Given the description of an element on the screen output the (x, y) to click on. 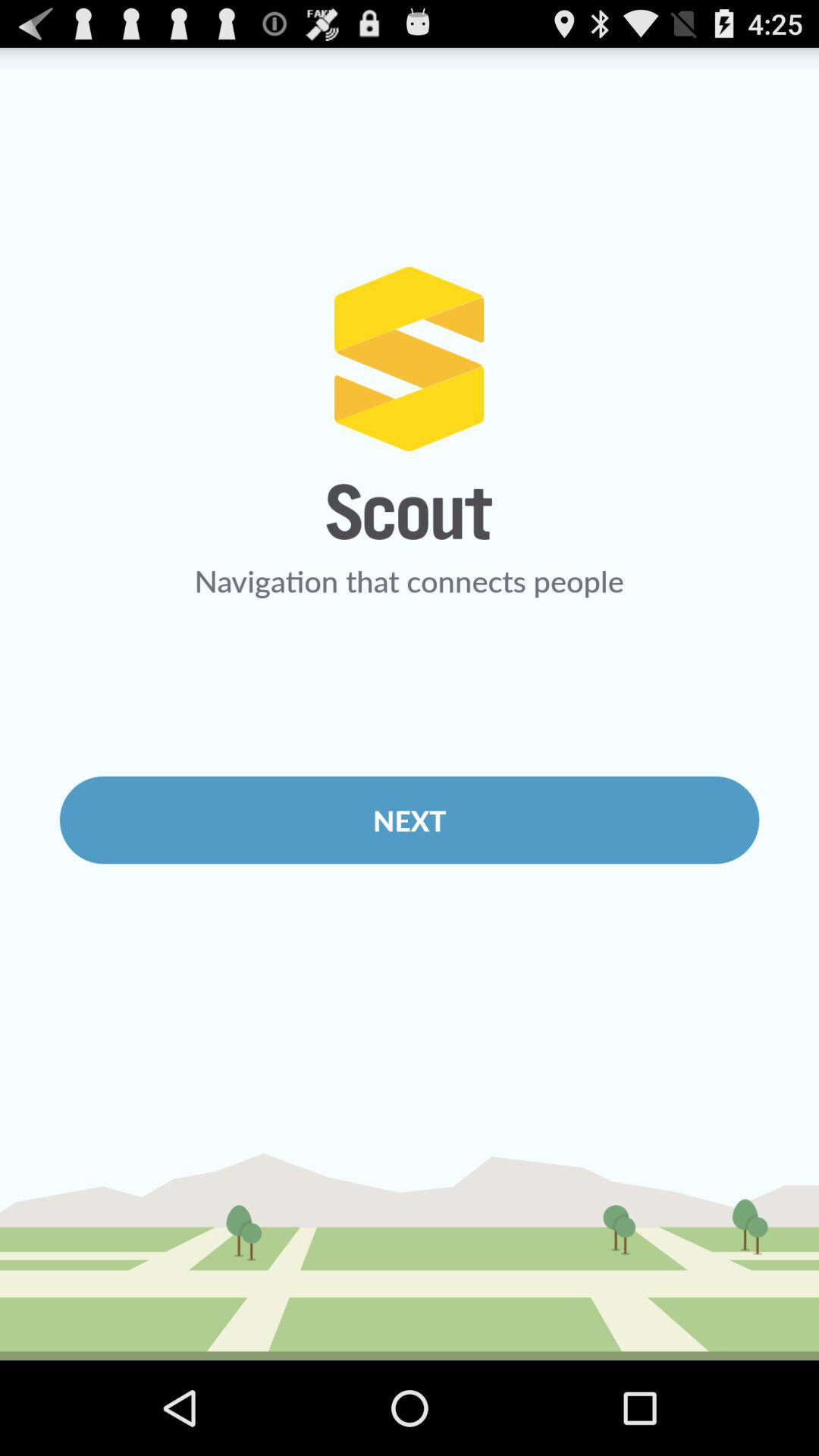
flip to next icon (409, 819)
